Given the description of an element on the screen output the (x, y) to click on. 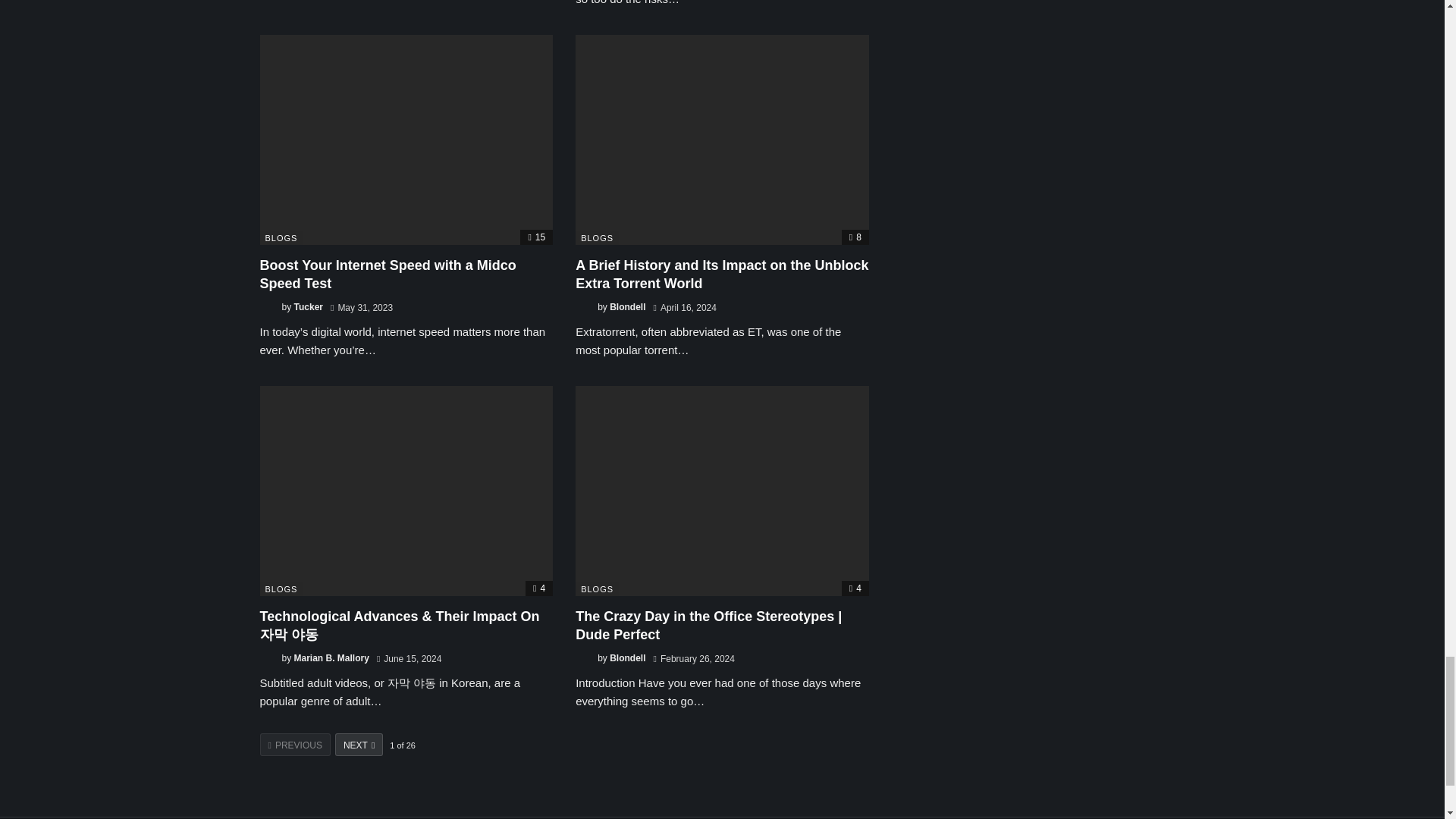
Boost Your Internet Speed with a Midco Speed Test (387, 274)
Boost Your Internet Speed with a Midco Speed Test (406, 139)
